Given the description of an element on the screen output the (x, y) to click on. 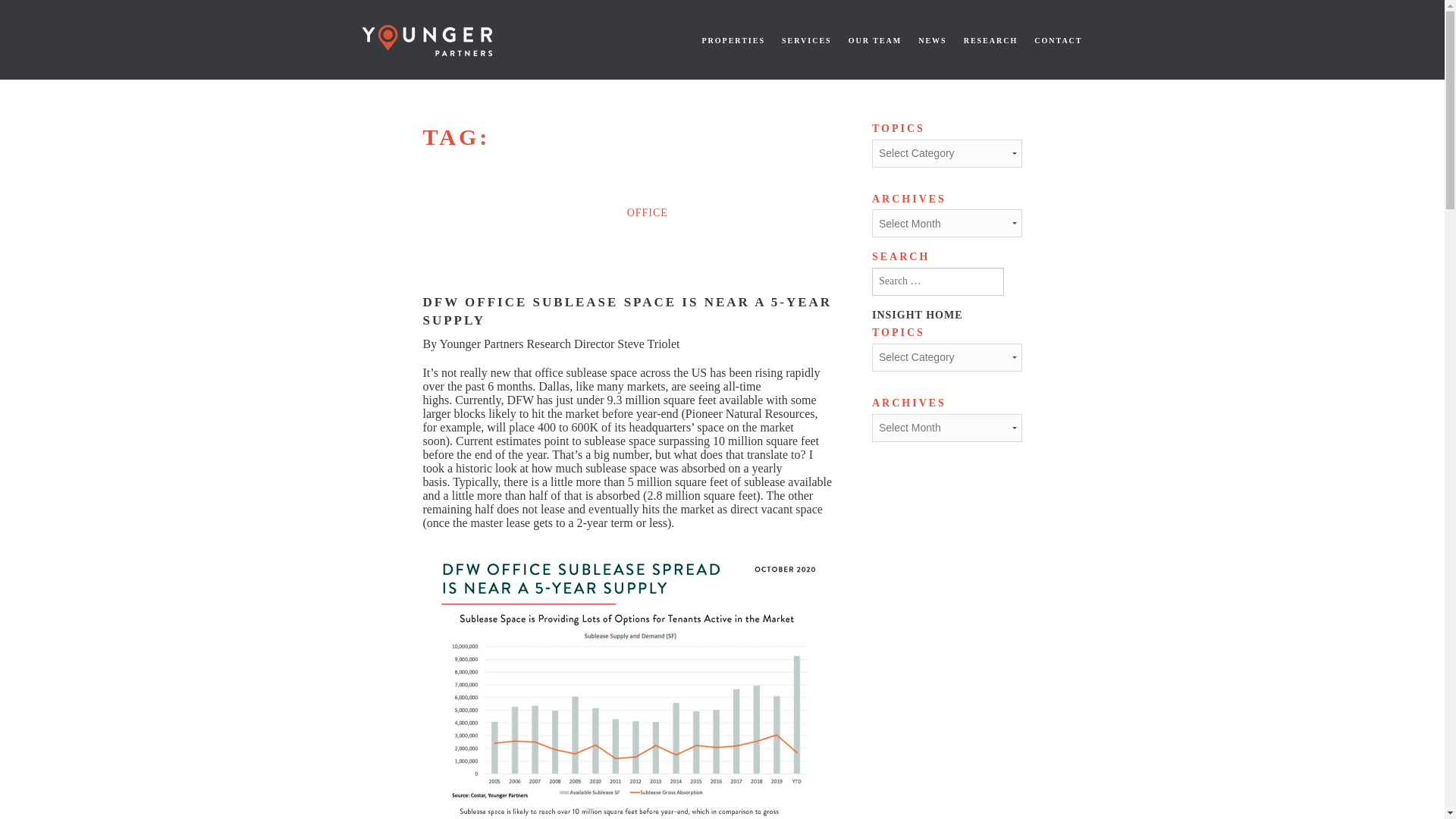
CONTACT (1057, 41)
PROPERTIES (733, 41)
SERVICES (806, 41)
OUR TEAM (875, 41)
INSIGHT HOME (917, 315)
RESEARCH (990, 41)
NEWS (932, 41)
Search (7, 7)
DFW OFFICE SUBLEASE SPACE IS NEAR A 5-YEAR SUPPLY (627, 310)
